Given the description of an element on the screen output the (x, y) to click on. 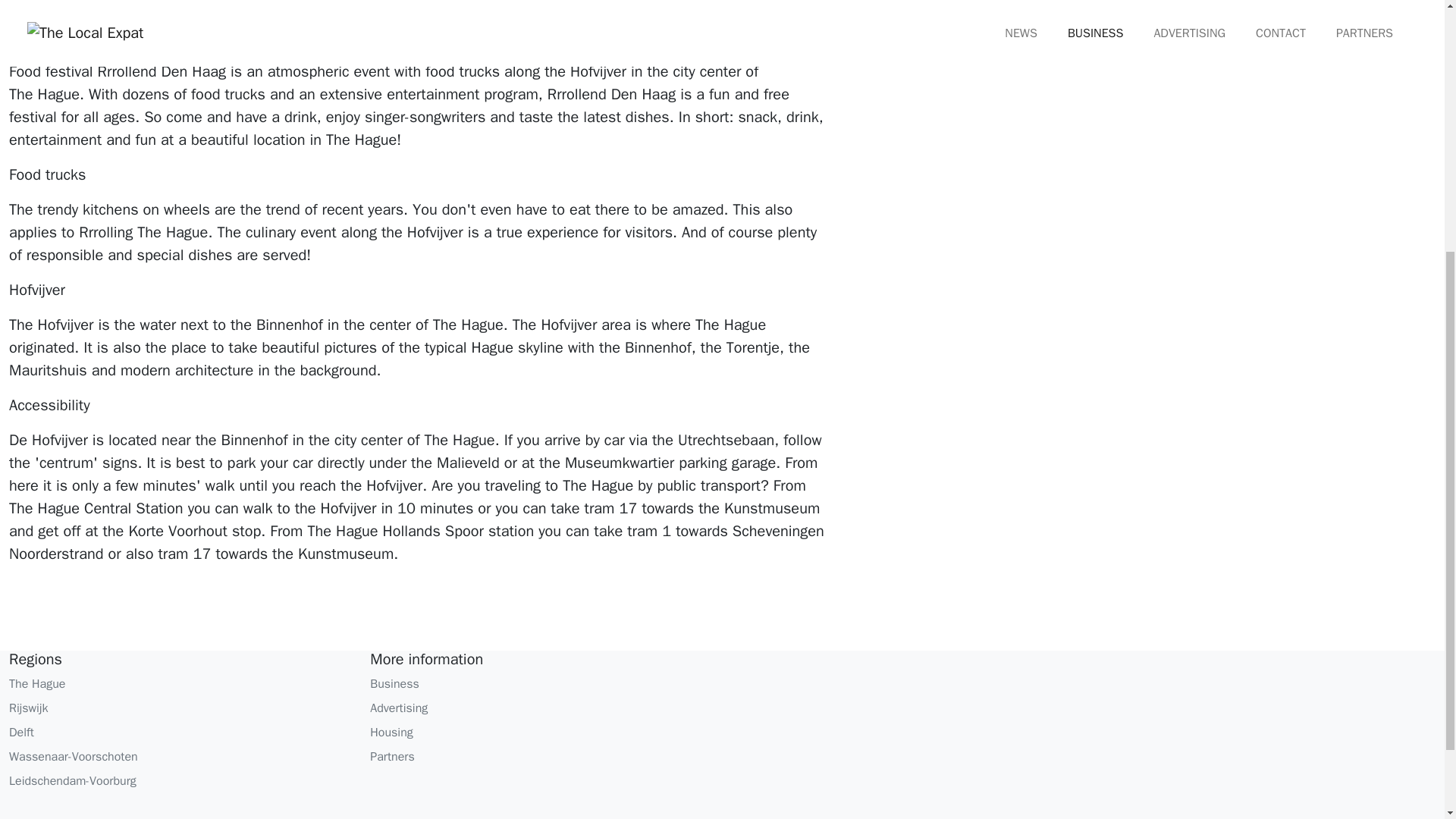
Delft (180, 732)
Rijswijk (180, 708)
Partners (541, 756)
Advertising (541, 708)
Leidschendam-Voorburg (180, 781)
Wassenaar-Voorschoten (180, 756)
Business (541, 683)
The Hague (180, 683)
Housing (541, 732)
